Given the description of an element on the screen output the (x, y) to click on. 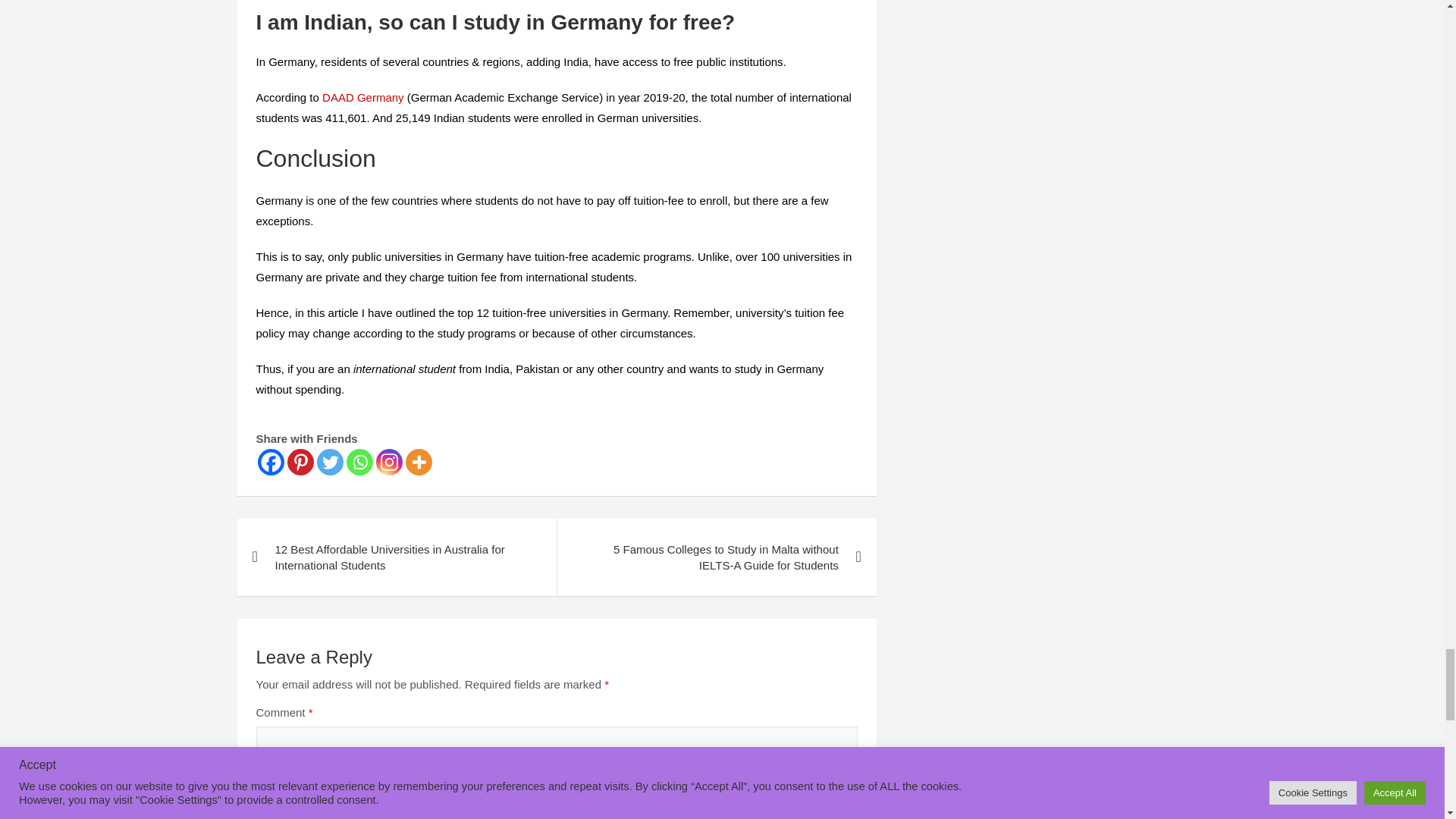
Whatsapp (359, 461)
Facebook (270, 461)
Twitter (330, 461)
Pinterest (299, 461)
